Given the description of an element on the screen output the (x, y) to click on. 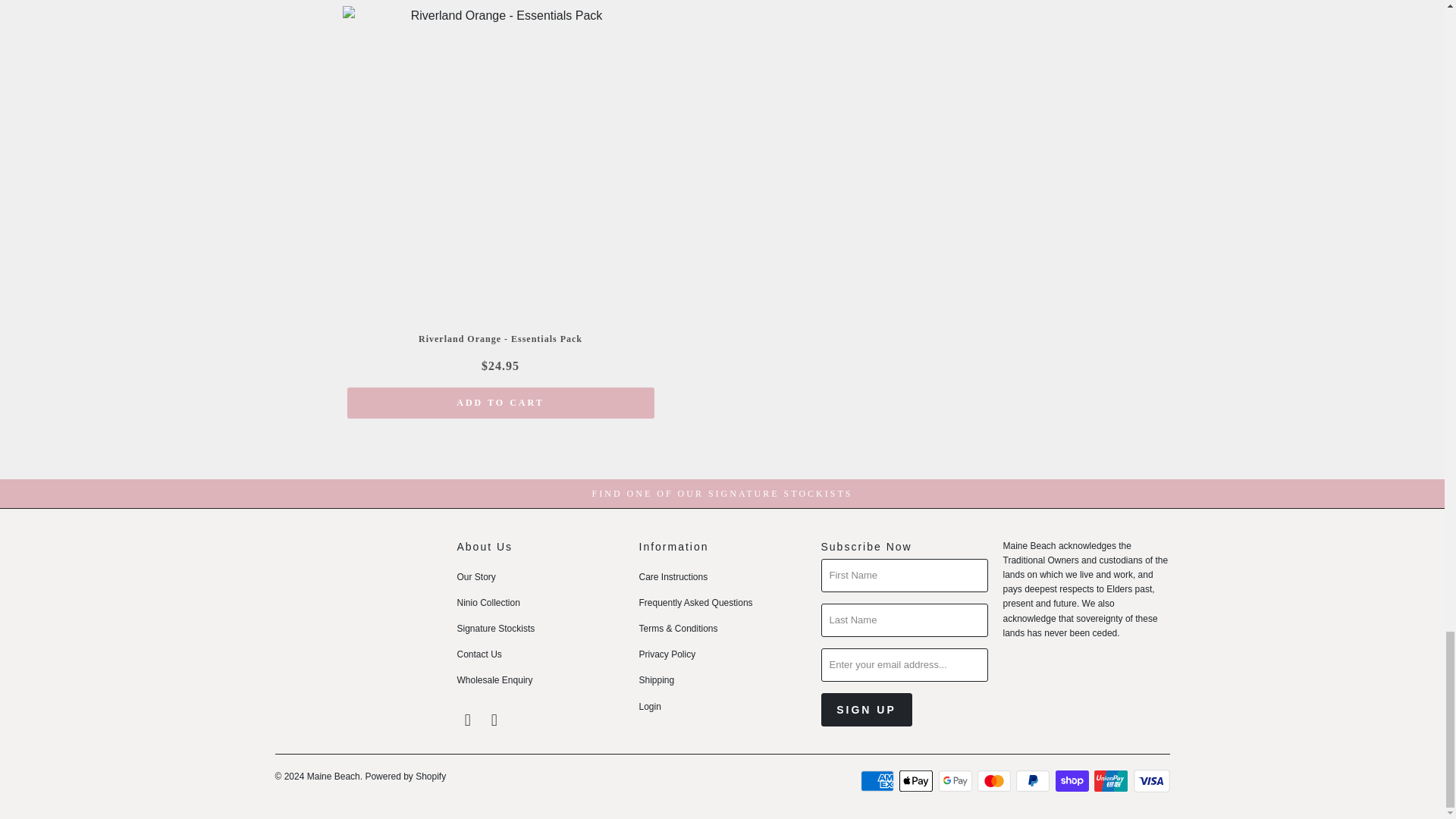
Union Pay (1112, 780)
Visa (1150, 780)
Shop Pay (1073, 780)
Sign Up (866, 709)
American Express (878, 780)
Apple Pay (917, 780)
Google Pay (957, 780)
Maine Beach on Instagram (494, 720)
Maine Beach on Facebook (468, 720)
Mastercard (994, 780)
PayPal (1034, 780)
